Given the description of an element on the screen output the (x, y) to click on. 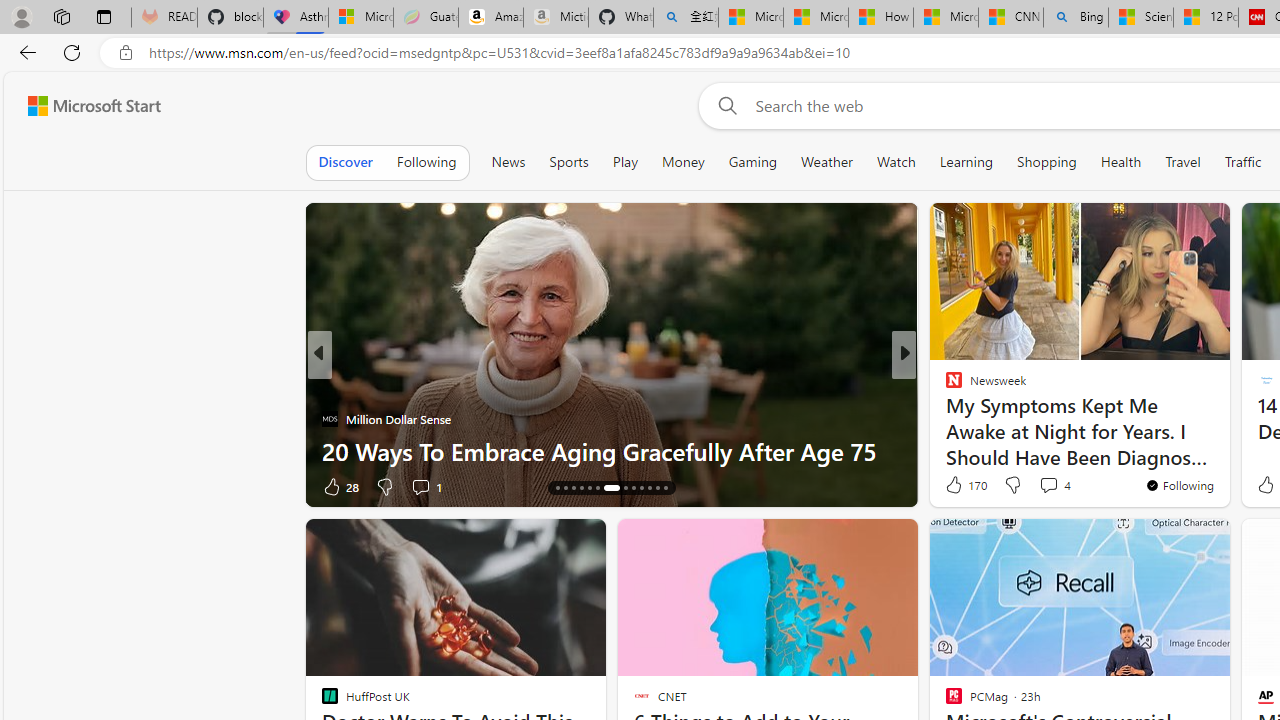
You're following Newsweek (1179, 485)
AutomationID: tab-17 (581, 487)
View comments 5 Comment (1041, 486)
View comments 42 Comment (1051, 486)
